Given the description of an element on the screen output the (x, y) to click on. 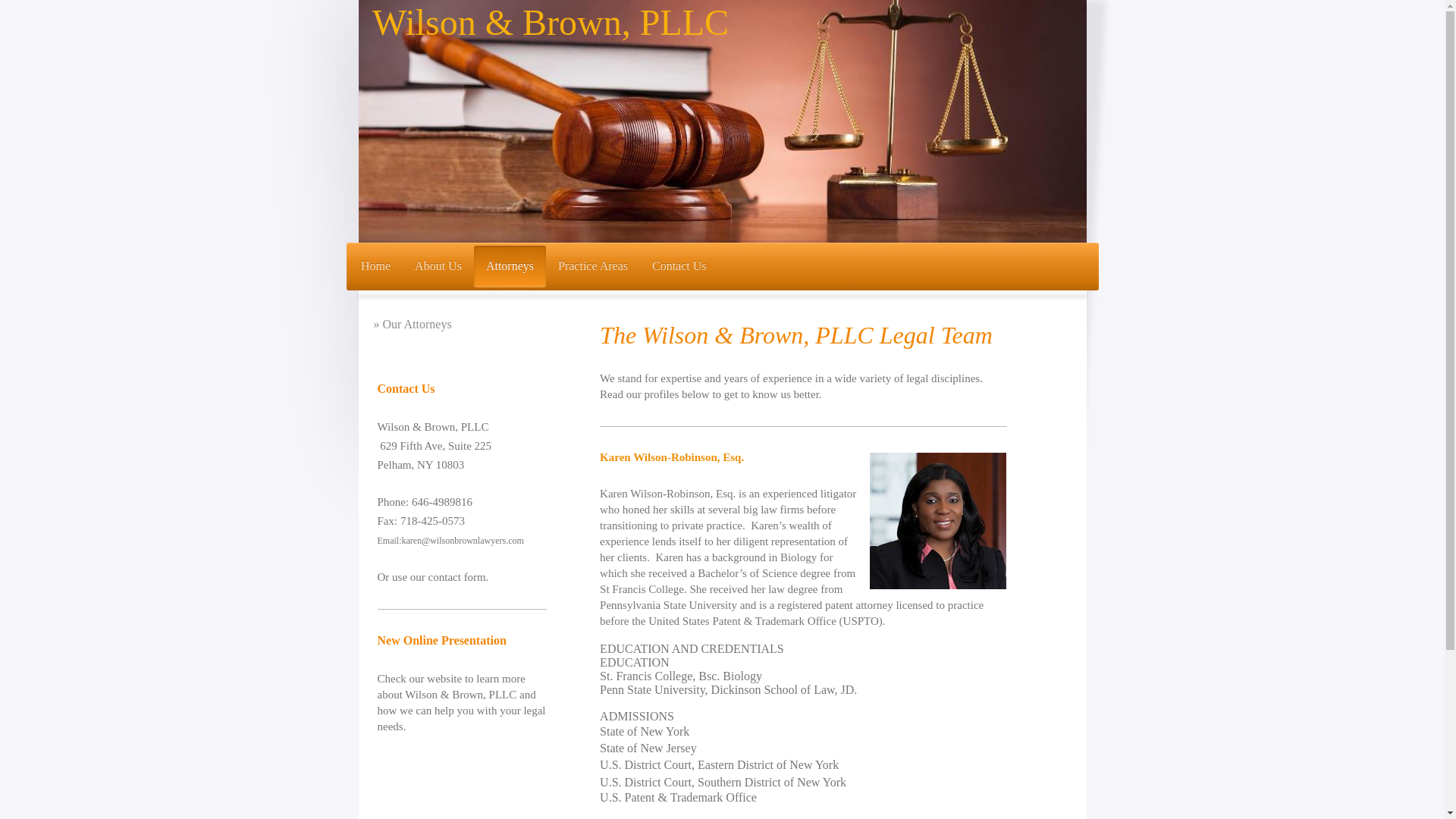
Practice Areas (593, 266)
Attorneys (510, 266)
Home (376, 266)
Our Attorneys (461, 324)
Contact Us (679, 266)
About Us (438, 266)
